Given the description of an element on the screen output the (x, y) to click on. 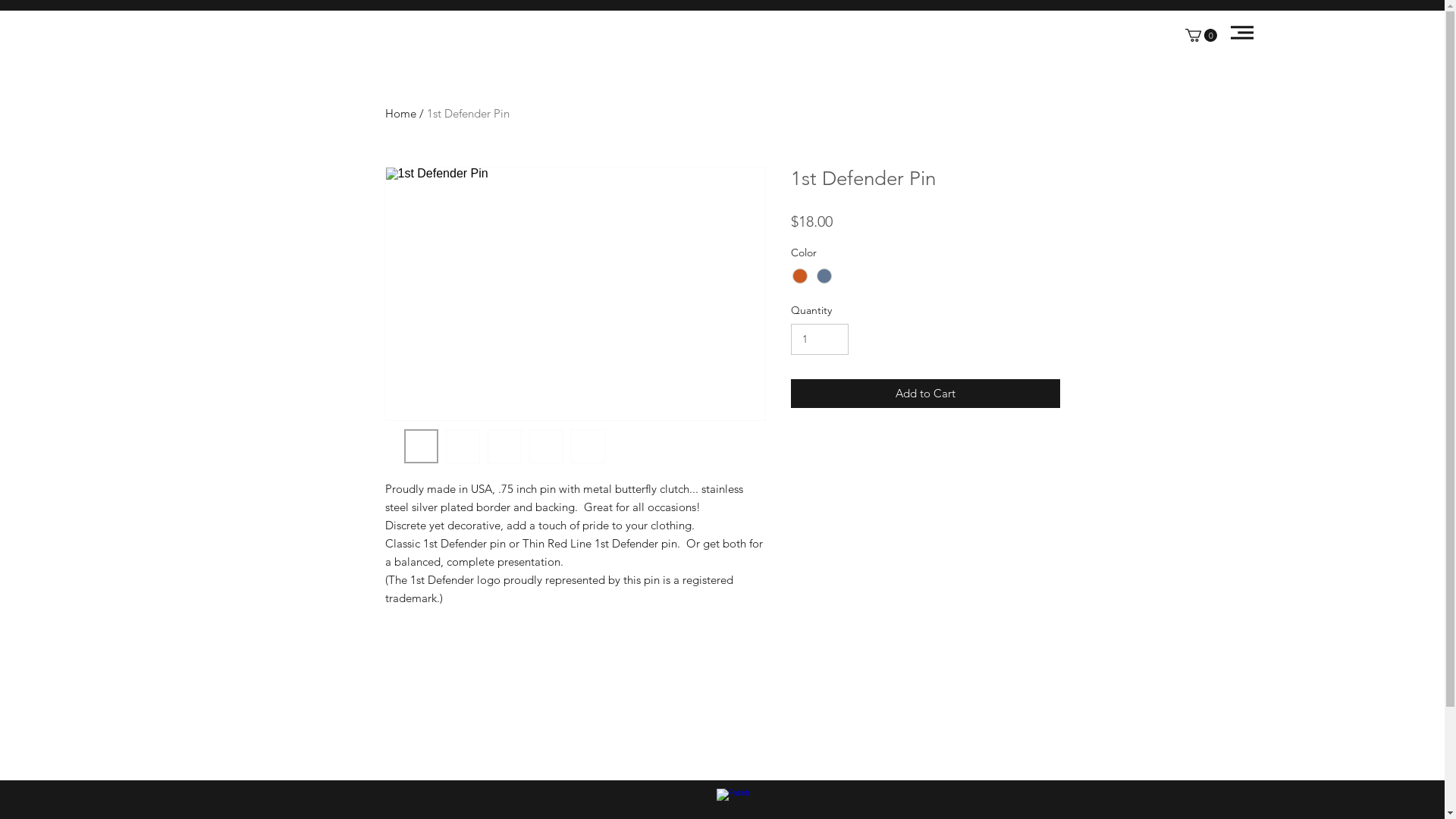
Add to Cart Element type: text (924, 393)
Home Element type: text (400, 113)
1st Defender Pin Element type: text (467, 113)
0 Element type: text (1201, 34)
